Given the description of an element on the screen output the (x, y) to click on. 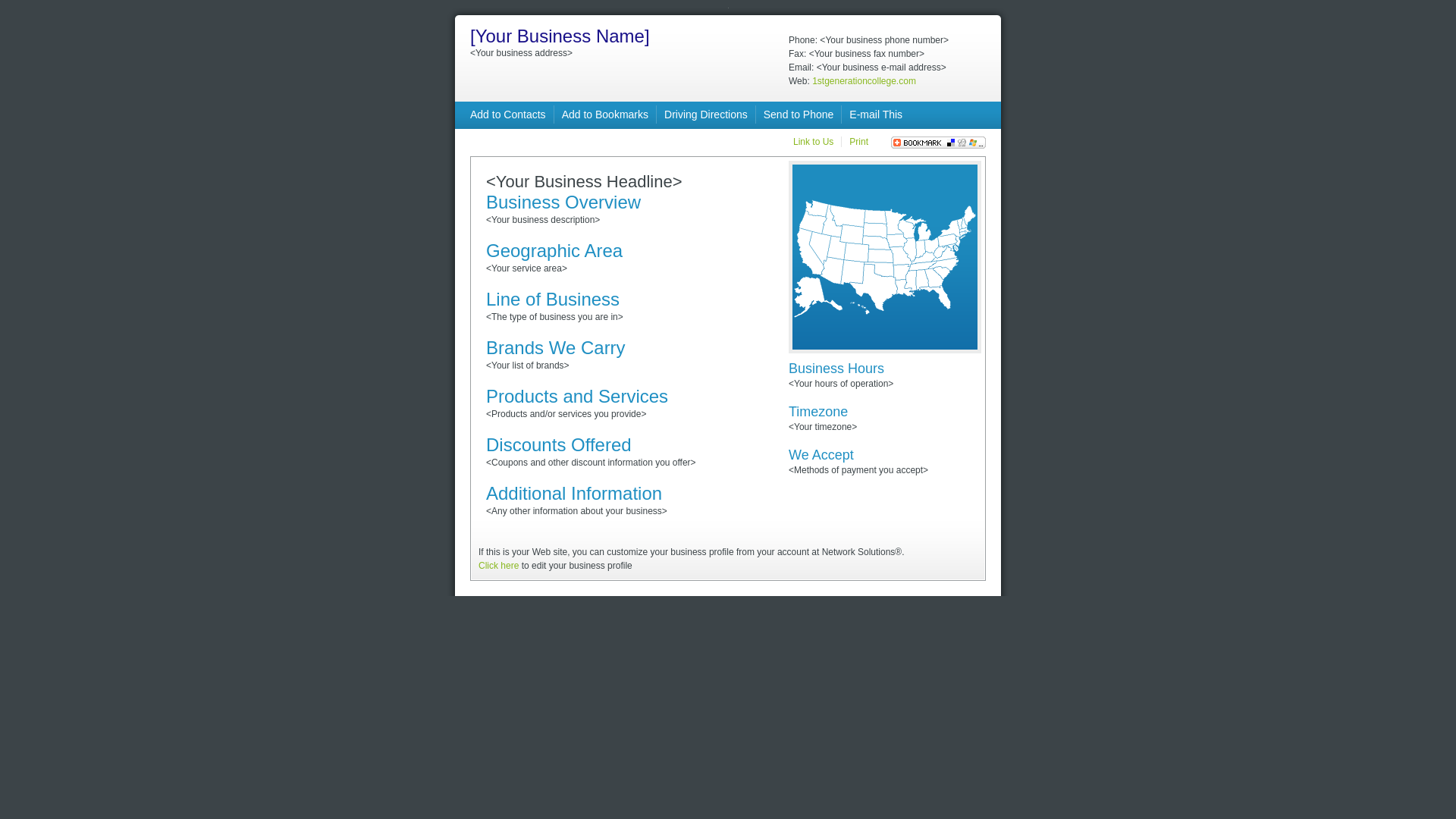
Link to Us Element type: text (813, 141)
Print Element type: text (858, 141)
Driving Directions Element type: text (705, 114)
Add to Contacts Element type: text (508, 114)
Send to Phone Element type: text (798, 114)
Click here Element type: text (498, 565)
Add to Bookmarks Element type: text (604, 114)
E-mail This Element type: text (875, 114)
1stgenerationcollege.com Element type: text (864, 80)
